Given the description of an element on the screen output the (x, y) to click on. 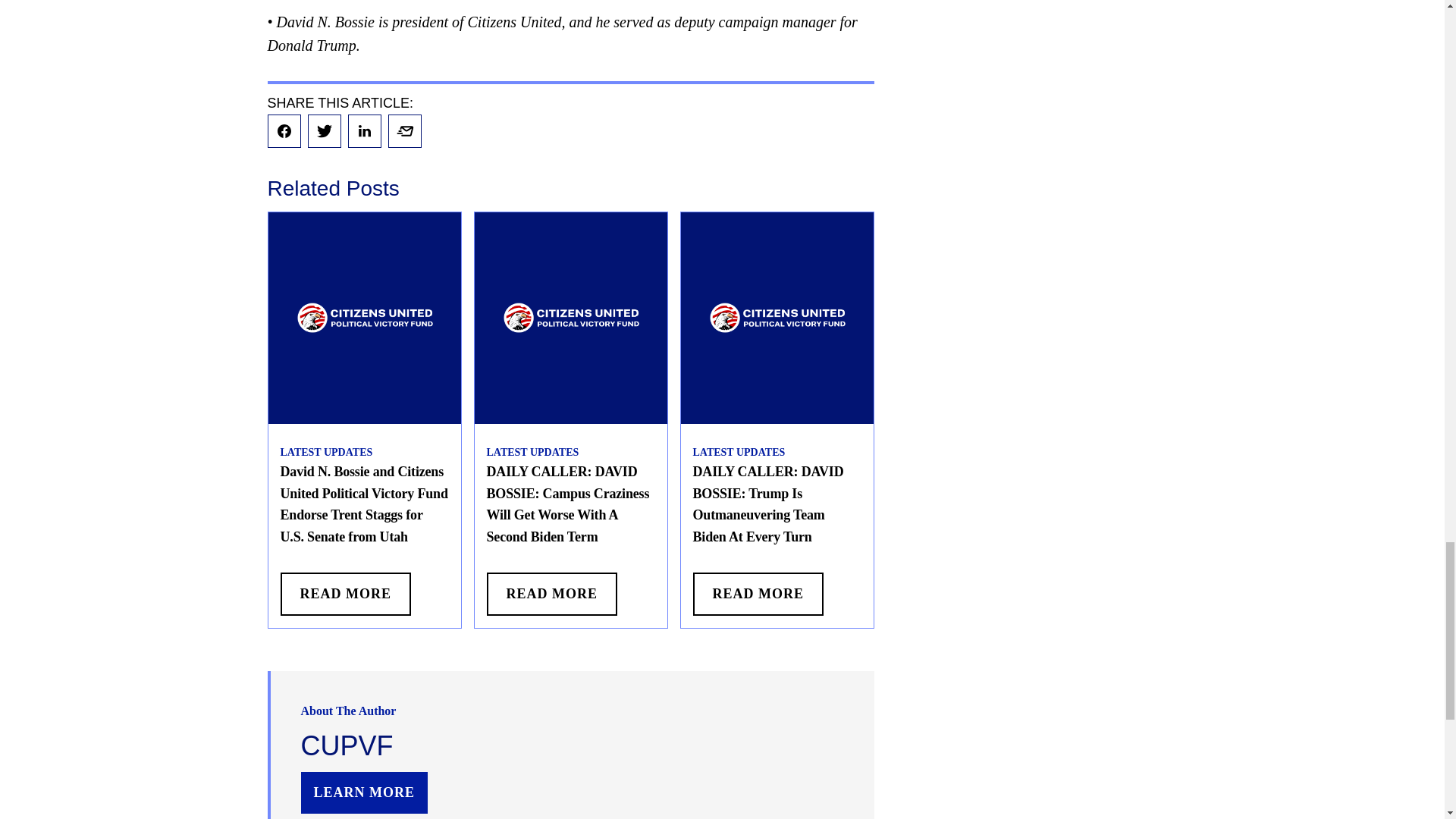
LEARN MORE (363, 793)
READ MORE (758, 593)
Facebook (282, 131)
LATEST UPDATES (532, 452)
READ MORE (345, 593)
LATEST UPDATES (326, 452)
LinkedIn (363, 131)
READ MORE (551, 593)
